Given the description of an element on the screen output the (x, y) to click on. 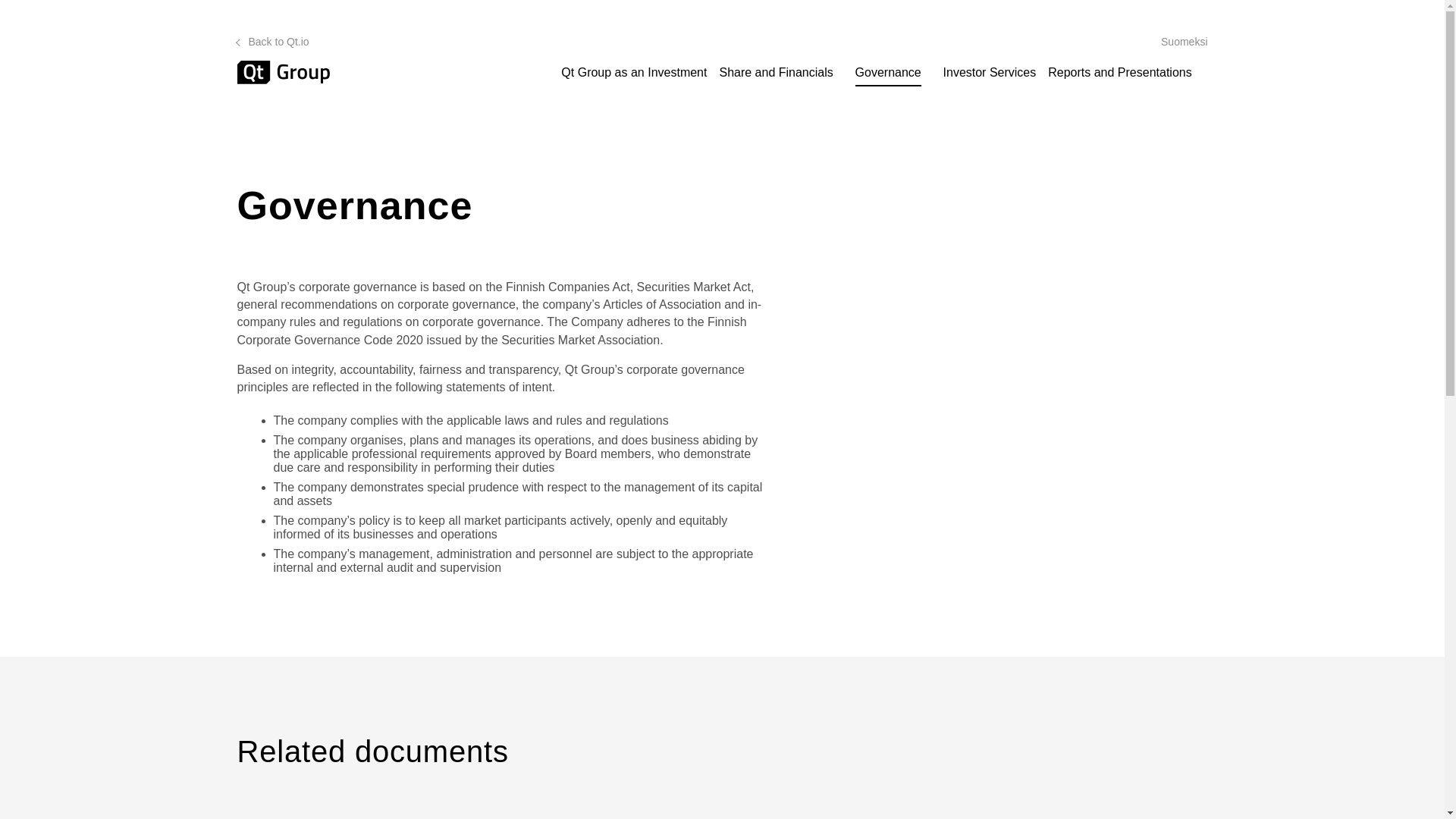
Reports and Presentations (1122, 72)
Qt Group as an Investment (633, 72)
Investor Services (989, 72)
Governance (891, 72)
Share and Financials (778, 72)
Suomeksi (1183, 41)
Back to Qt.io (271, 41)
